Given the description of an element on the screen output the (x, y) to click on. 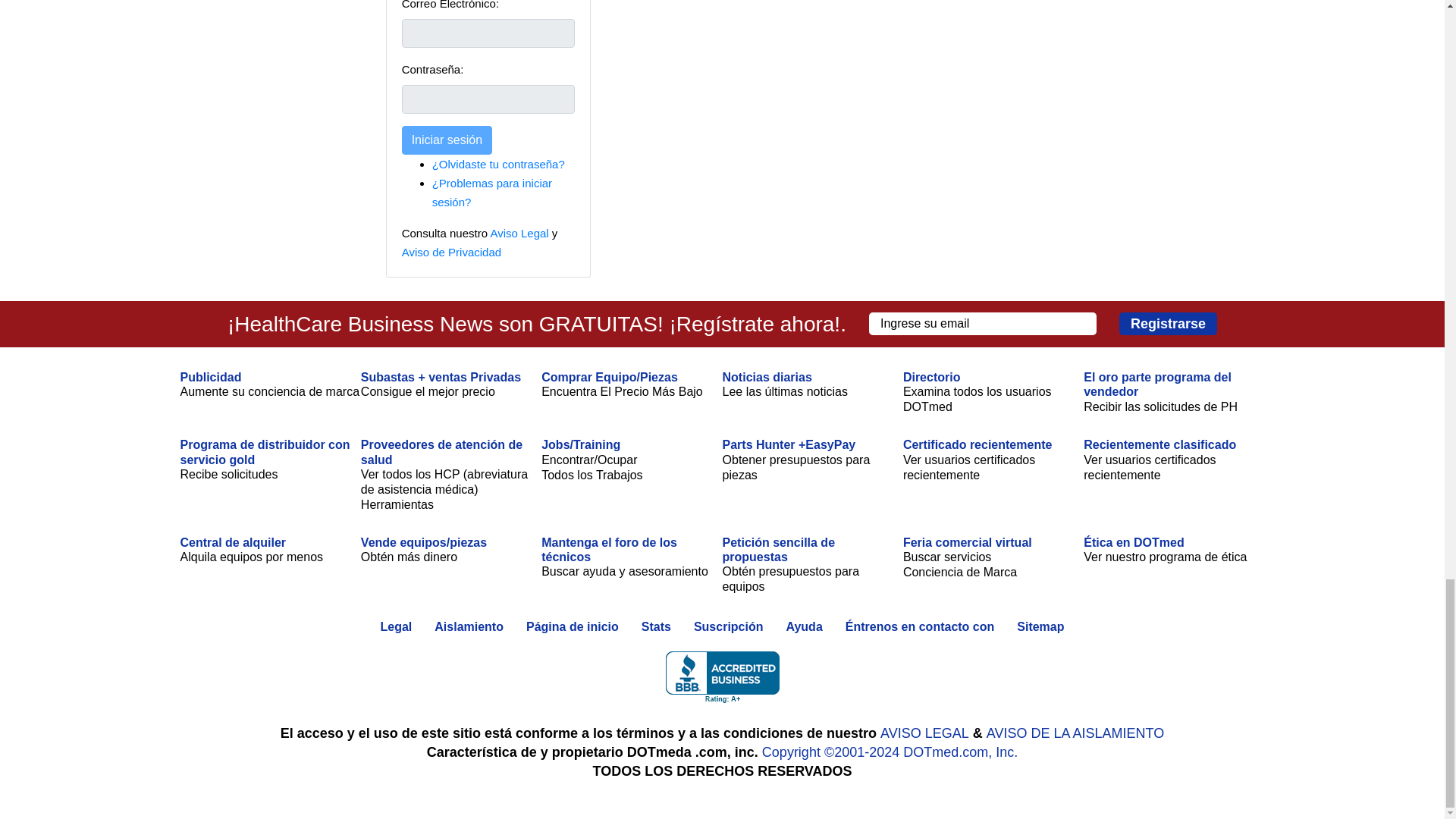
Login Problems? (491, 192)
Forget your password? (498, 164)
